Given the description of an element on the screen output the (x, y) to click on. 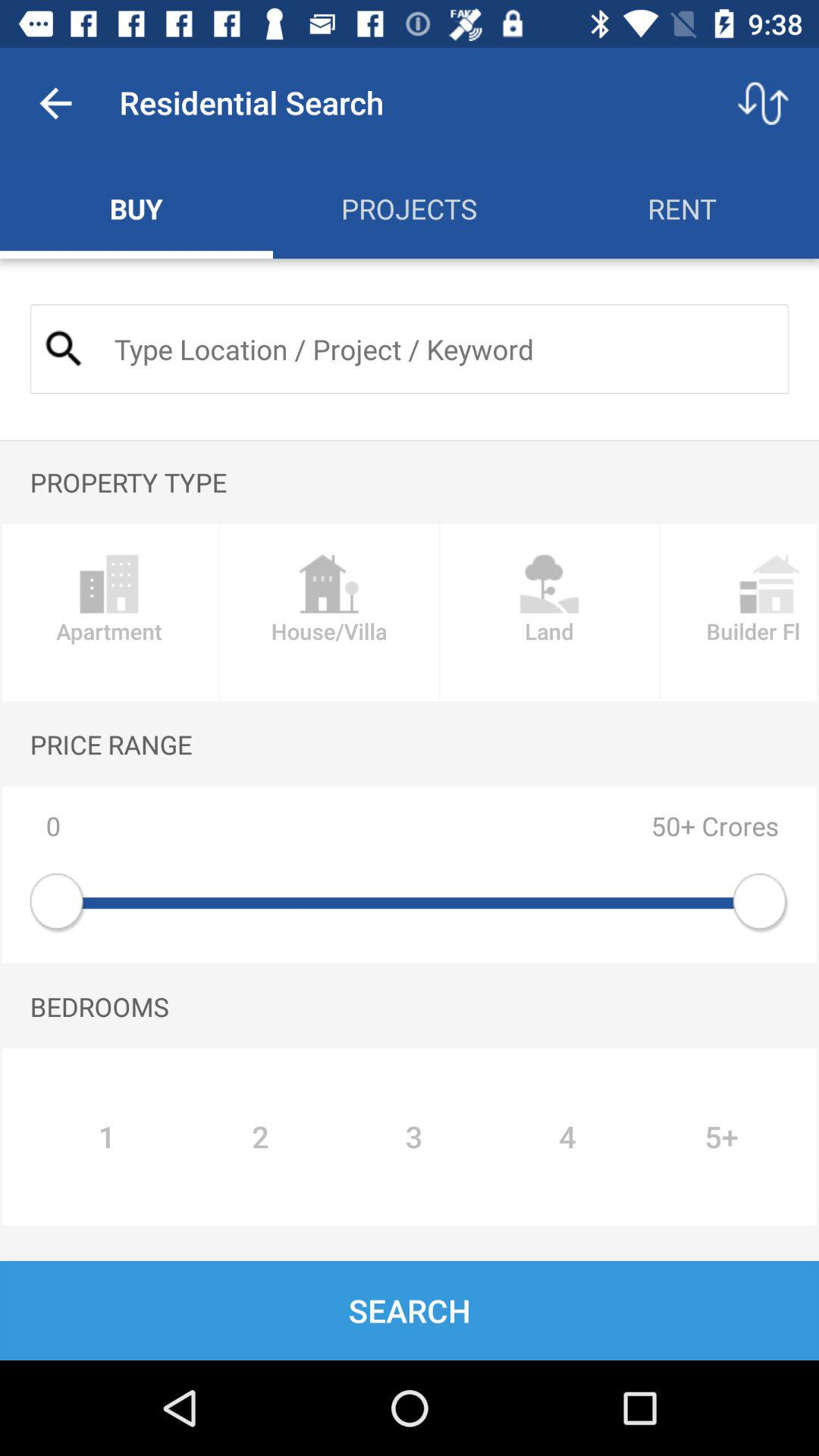
choose the item above buy item (55, 103)
